Given the description of an element on the screen output the (x, y) to click on. 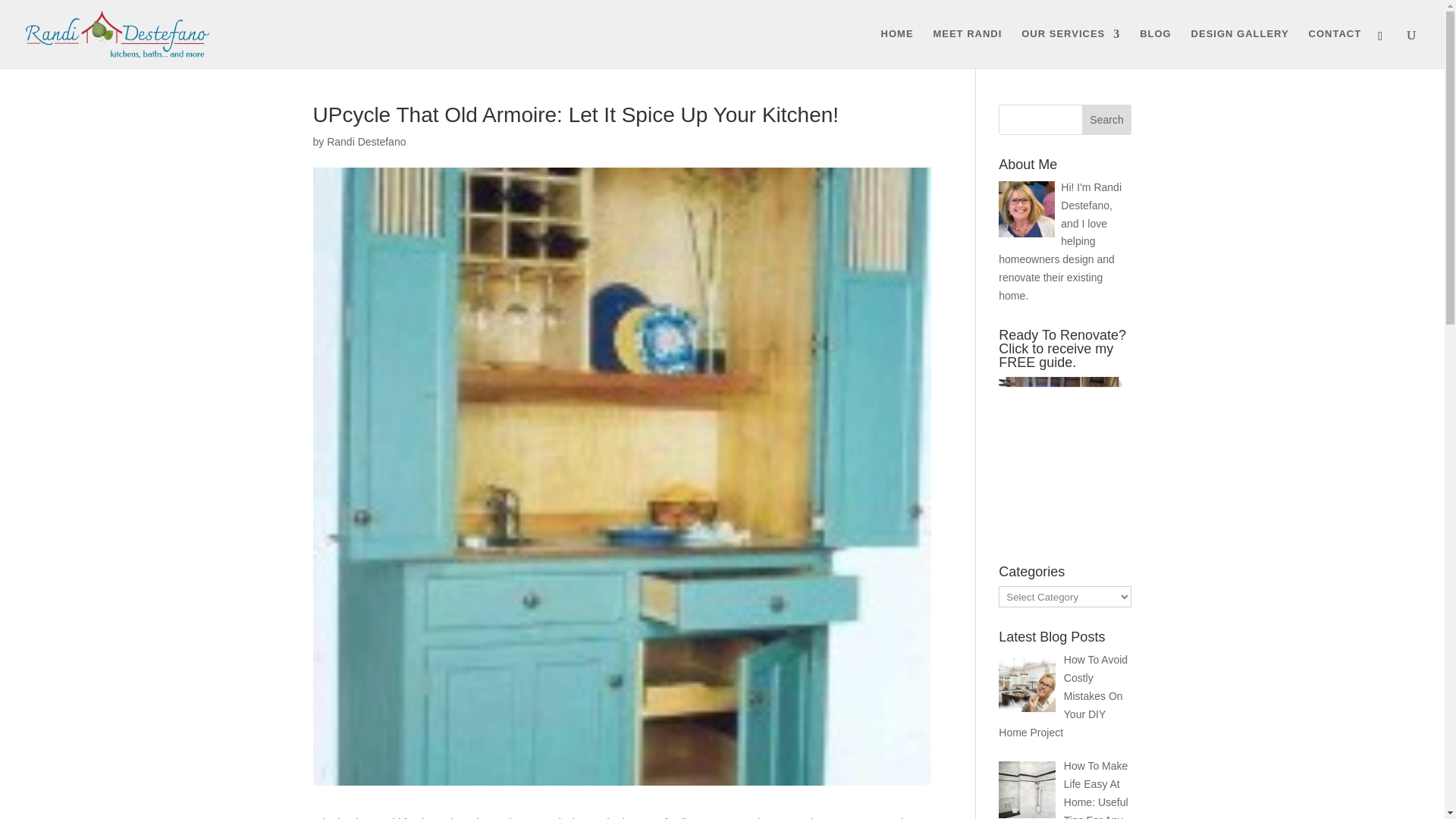
How To Make Life Easy At Home: Useful Tips For Any Age (1062, 789)
CONTACT (1334, 47)
DESIGN GALLERY (1239, 47)
Posts by Randi Destefano (366, 141)
Search (1106, 119)
OUR SERVICES (1070, 47)
How To Avoid Costly Mistakes On Your DIY Home Project (1062, 695)
Randi Destefano (366, 141)
Search (1106, 119)
MEET RANDI (967, 47)
